Given the description of an element on the screen output the (x, y) to click on. 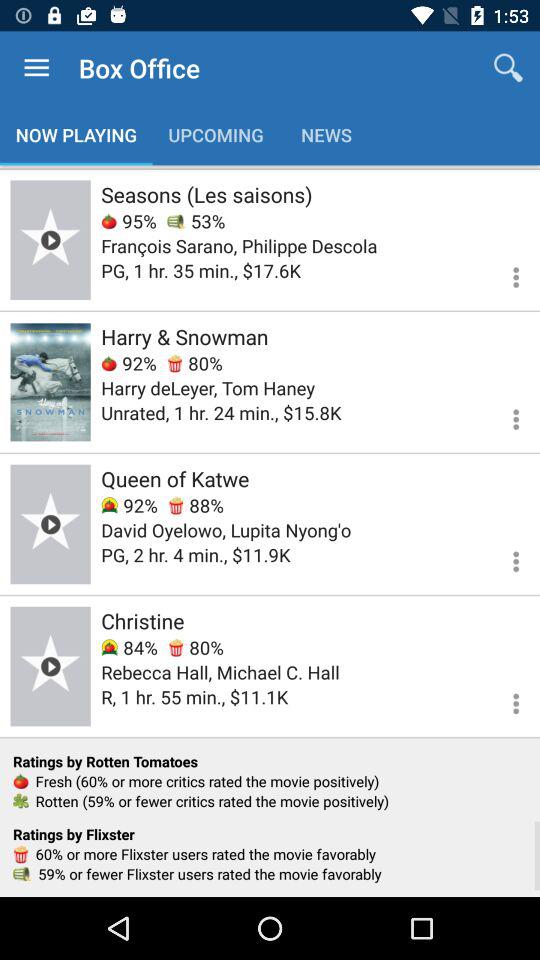
options (503, 558)
